Given the description of an element on the screen output the (x, y) to click on. 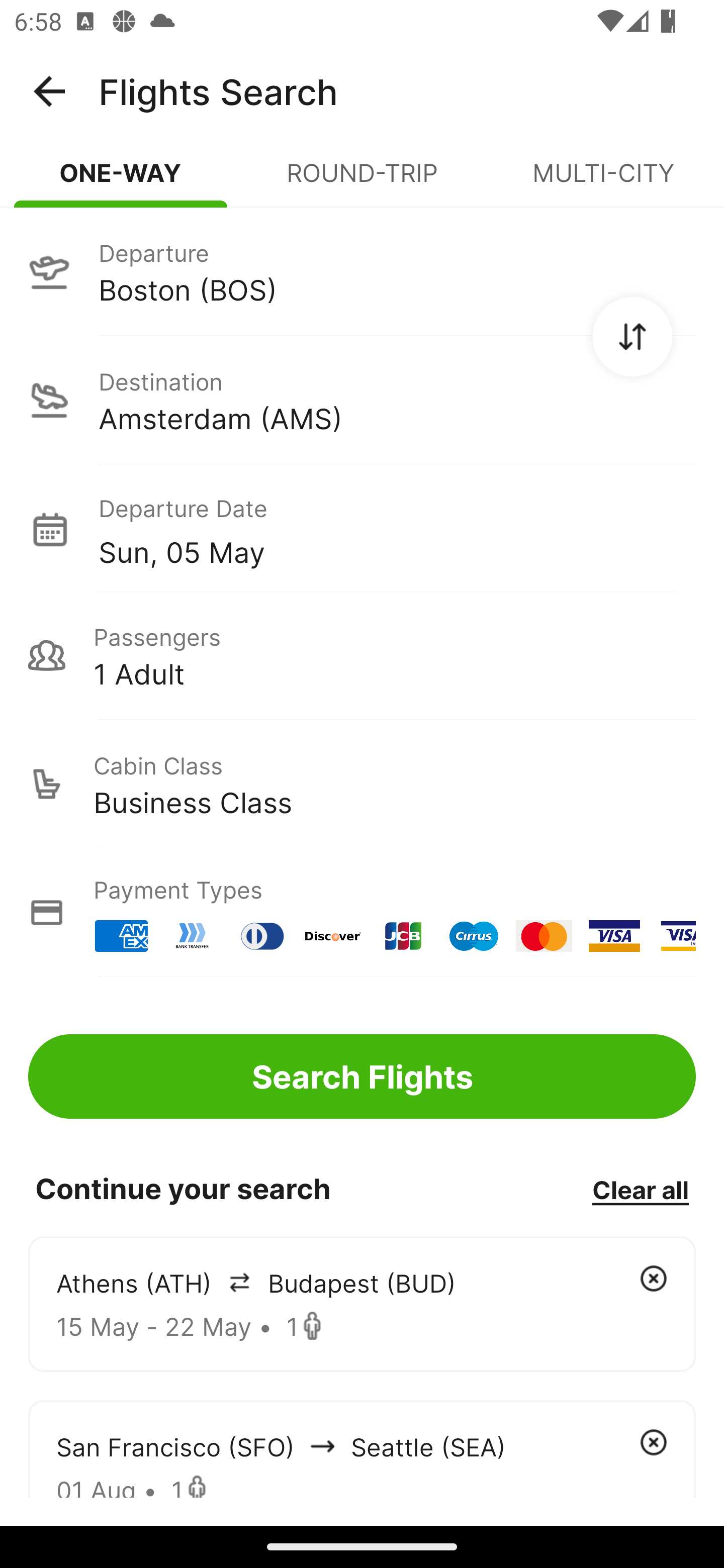
ONE-WAY (120, 180)
ROUND-TRIP (361, 180)
MULTI-CITY (603, 180)
Departure Boston (BOS) (362, 270)
Destination Amsterdam (AMS) (362, 400)
Departure Date Sun, 05 May (396, 528)
Passengers 1 Adult (362, 655)
Cabin Class Business Class (362, 783)
Payment Types (362, 912)
Search Flights (361, 1075)
Clear all (640, 1189)
